Given the description of an element on the screen output the (x, y) to click on. 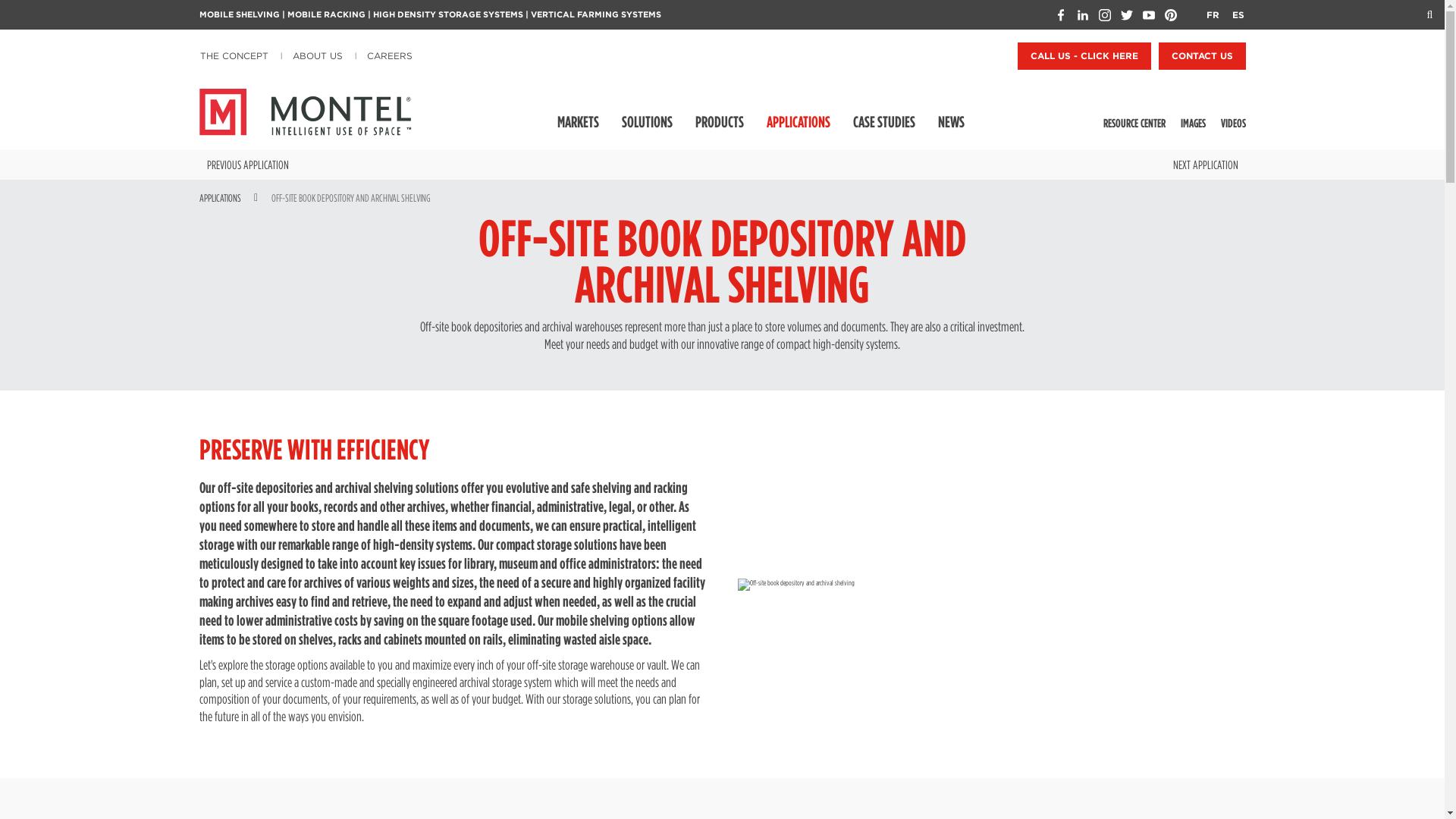
Montel on Pinterest (1171, 15)
About Us (317, 55)
CALL US - CLICK HERE (1084, 55)
CAREERS (389, 55)
Montel on LinkedIn (1082, 15)
Montel on Facebook (1060, 15)
News (950, 121)
The Concept (236, 55)
Contact Us (1202, 55)
Montel on Instagram (1104, 15)
Montel on Youtube (1147, 15)
Image Gallery (1196, 121)
SOLUTIONS (647, 121)
Video Gallery (1235, 121)
MARKETS (578, 121)
